Given the description of an element on the screen output the (x, y) to click on. 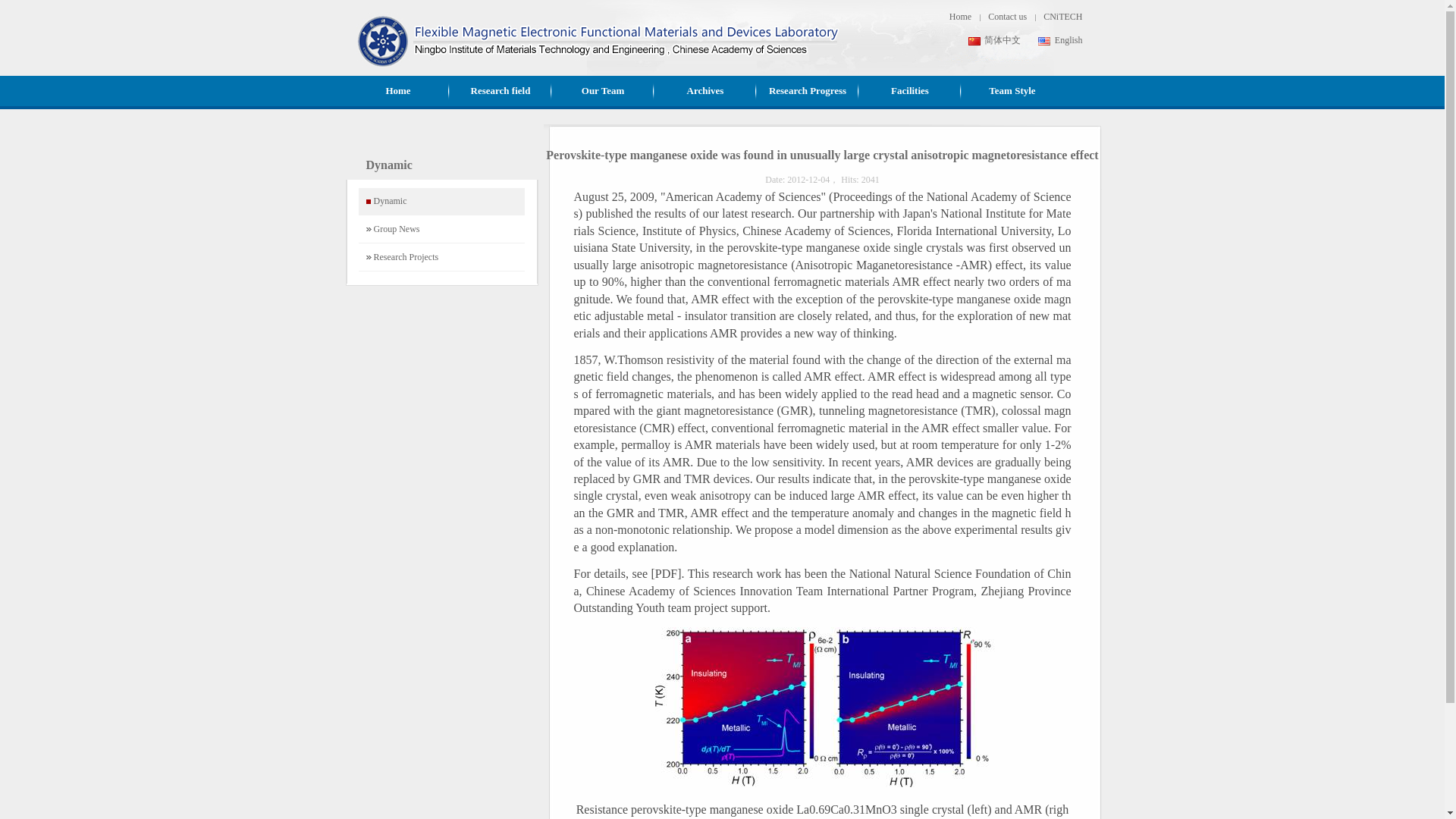
English (1060, 40)
Research field (499, 91)
Dynamic (441, 201)
Research Projects (441, 257)
Group News (441, 229)
Our Team (602, 91)
Home (960, 16)
Contact us (1007, 16)
CNiTECH (1062, 16)
Home (398, 91)
Research Projects (441, 257)
Dynamic (441, 201)
Research Progress (808, 91)
Group News (441, 229)
Team Style (1012, 91)
